Given the description of an element on the screen output the (x, y) to click on. 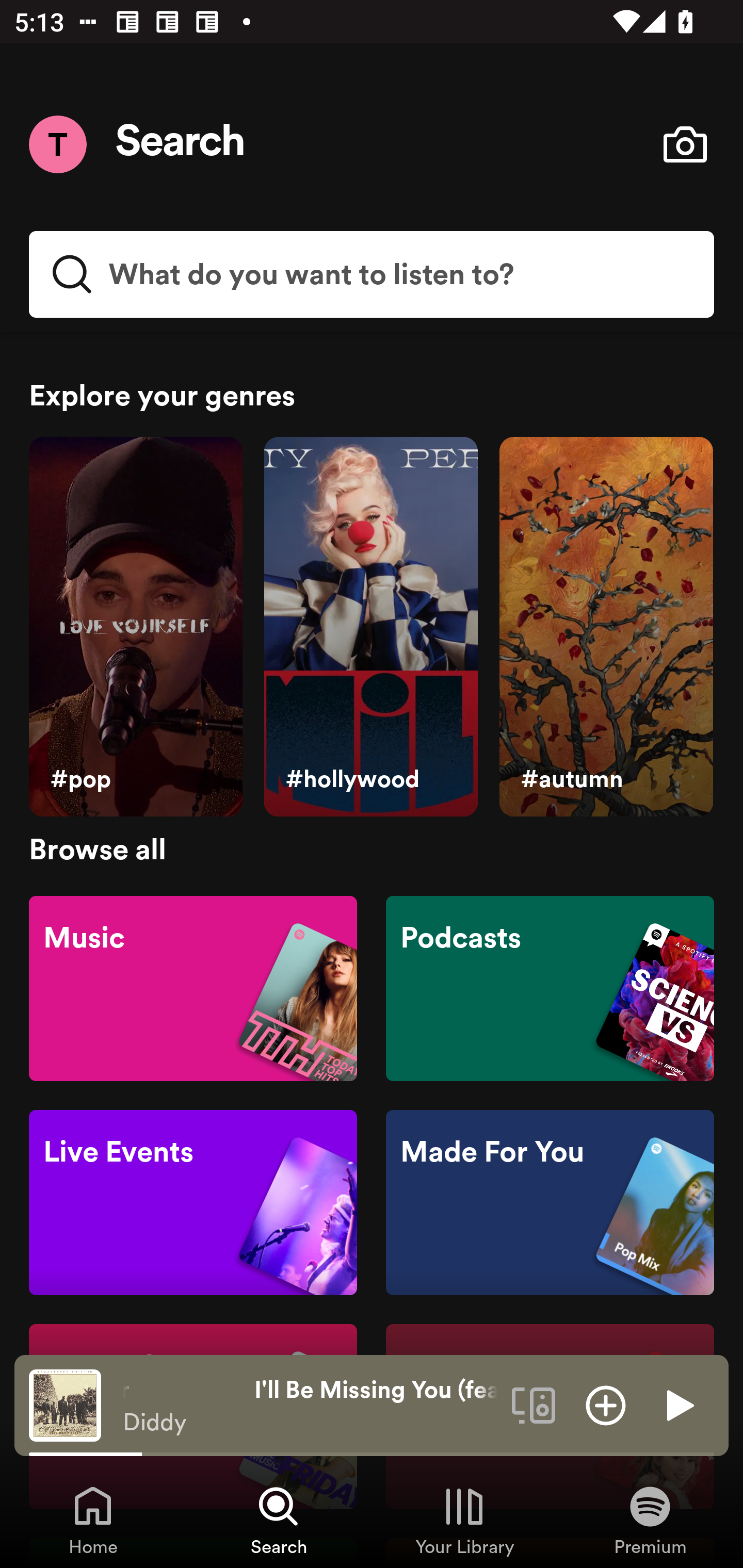
Menu (57, 144)
Open camera (685, 145)
Search (180, 144)
#pop (135, 626)
#hollywood (370, 626)
#autumn (606, 626)
Music (192, 987)
Podcasts (549, 987)
Live Events (192, 1202)
Made For You (549, 1202)
The cover art of the currently playing track (64, 1404)
Connect to a device. Opens the devices menu (533, 1404)
Add item (605, 1404)
Play (677, 1404)
Home, Tab 1 of 4 Home Home (92, 1519)
Search, Tab 2 of 4 Search Search (278, 1519)
Your Library, Tab 3 of 4 Your Library Your Library (464, 1519)
Premium, Tab 4 of 4 Premium Premium (650, 1519)
